Given the description of an element on the screen output the (x, y) to click on. 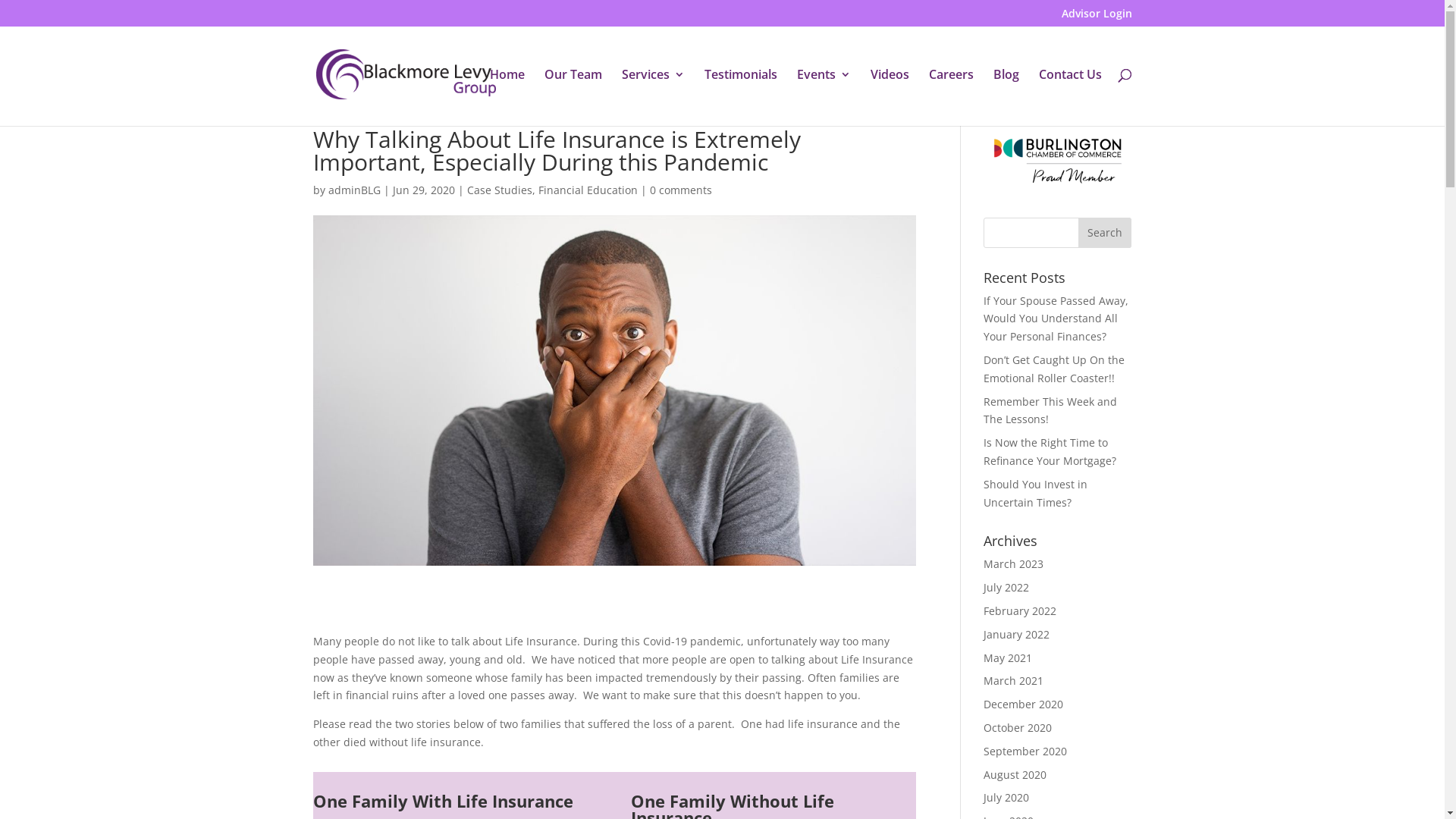
adminBLG Element type: text (353, 189)
Advisor Login Element type: text (1096, 16)
October 2020 Element type: text (1017, 727)
Events Element type: text (823, 97)
Contact Us Element type: text (1069, 97)
May 2021 Element type: text (1007, 657)
July 2020 Element type: text (1006, 797)
Careers Element type: text (950, 97)
Services Element type: text (652, 97)
0 comments Element type: text (680, 189)
February 2022 Element type: text (1019, 610)
August 2020 Element type: text (1014, 774)
January 2022 Element type: text (1016, 634)
Our Team Element type: text (573, 97)
Case Studies Element type: text (499, 189)
March 2021 Element type: text (1013, 680)
Search Element type: text (1104, 232)
Should You Invest in Uncertain Times? Element type: text (1035, 492)
March 2023 Element type: text (1013, 563)
Home Element type: text (506, 97)
Is Now the Right Time to Refinance Your Mortgage? Element type: text (1049, 451)
September 2020 Element type: text (1024, 750)
Testimonials Element type: text (739, 97)
Financial Education Element type: text (587, 189)
Videos Element type: text (889, 97)
Remember This Week and The Lessons! Element type: text (1050, 410)
July 2022 Element type: text (1006, 587)
December 2020 Element type: text (1023, 703)
Blog Element type: text (1006, 97)
